Given the description of an element on the screen output the (x, y) to click on. 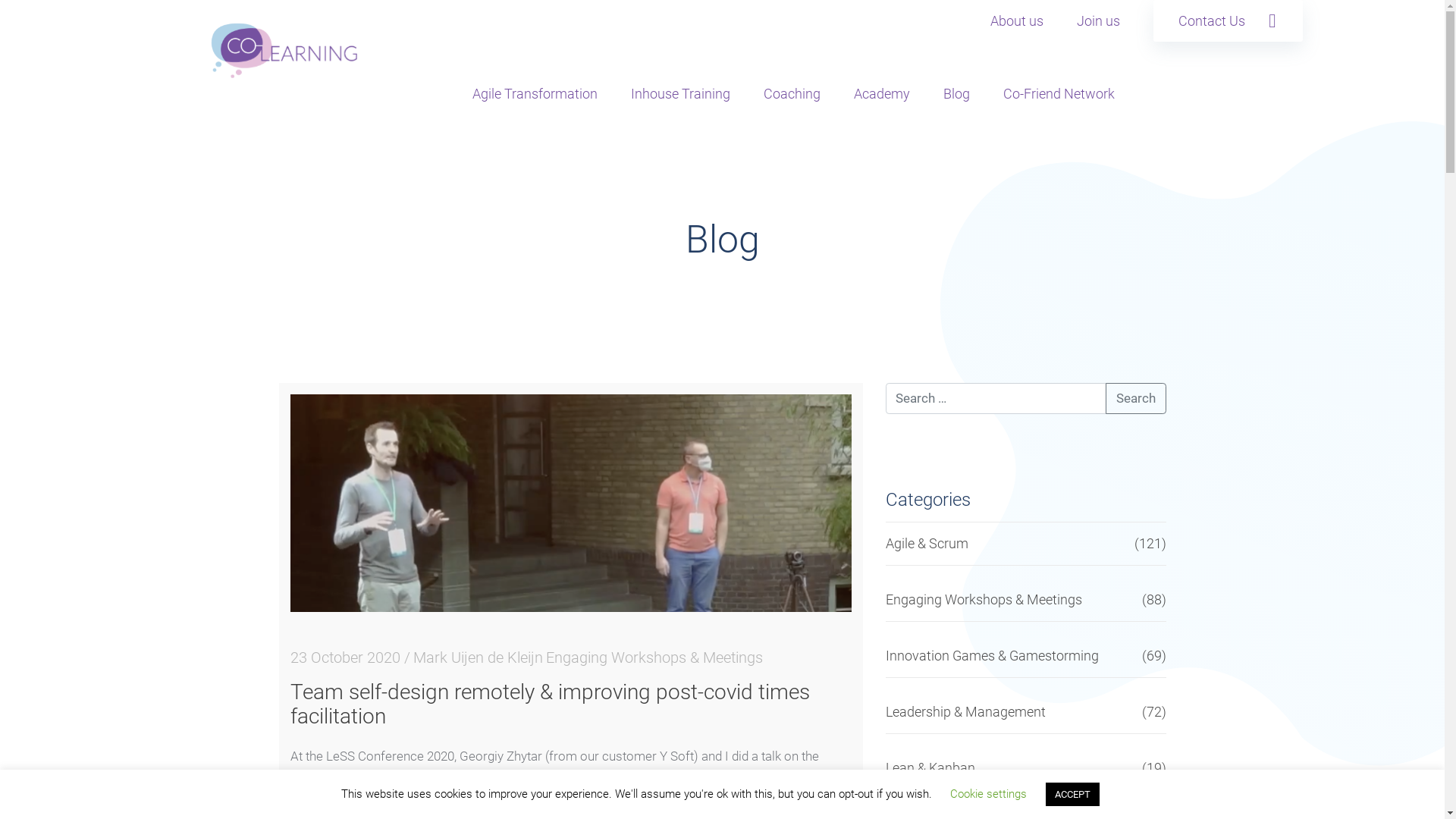
Engaging Workshops & Meetings Element type: text (654, 657)
About us Element type: text (1016, 20)
Inhouse Training Element type: text (680, 93)
Co-learning Element type: text (283, 50)
Academy Element type: text (881, 93)
Co-Friend Network Element type: text (1057, 93)
Search Element type: text (1135, 397)
Cookie settings Element type: text (988, 793)
Coaching Element type: text (790, 93)
Agile Transformation Element type: text (533, 93)
Innovation Games & Gamestorming
(69) Element type: text (1025, 655)
Blog Element type: text (956, 93)
Contact Us Element type: text (1227, 20)
ACCEPT Element type: text (1072, 794)
Agile & Scrum
(121) Element type: text (1025, 543)
Lean & Kanban
(19) Element type: text (1025, 768)
Engaging Workshops & Meetings
(88) Element type: text (1025, 599)
Join us Element type: text (1098, 20)
Leadership & Management
(72) Element type: text (1025, 712)
